Given the description of an element on the screen output the (x, y) to click on. 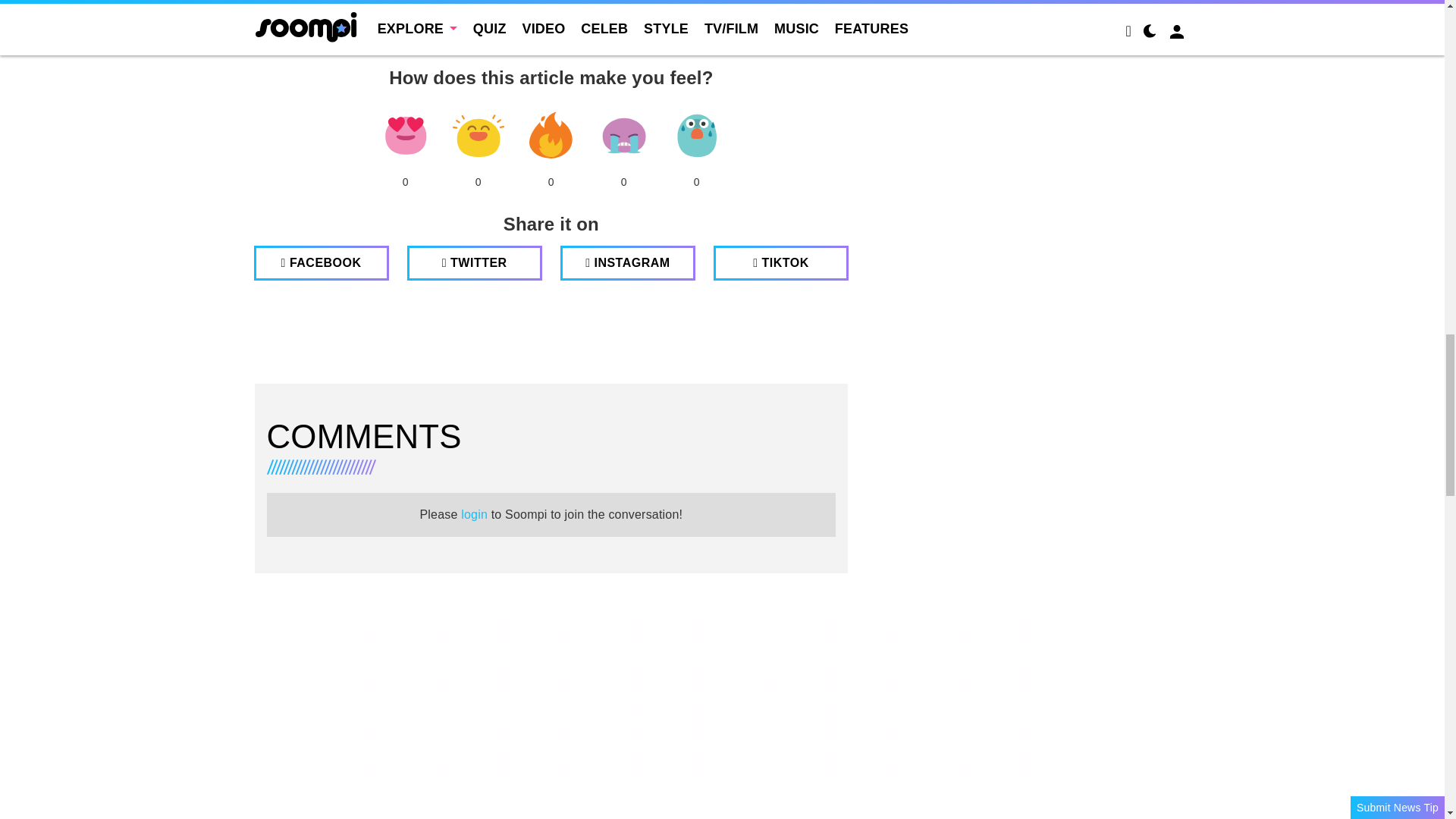
TWITTER (474, 262)
omg (696, 135)
Fire (550, 135)
BERLIN INTERNATIONAL FILM FESTIVAL (341, 42)
PARK CHAN WOOK (635, 42)
Heart (405, 135)
Berlin International Film Festival (341, 42)
LOL (478, 135)
fire (550, 135)
FACEBOOK (320, 262)
Crying (623, 135)
HONG SANG SOO (538, 42)
CANNES (461, 42)
Cannes (461, 42)
Hong Sang Soo (538, 42)
